Given the description of an element on the screen output the (x, y) to click on. 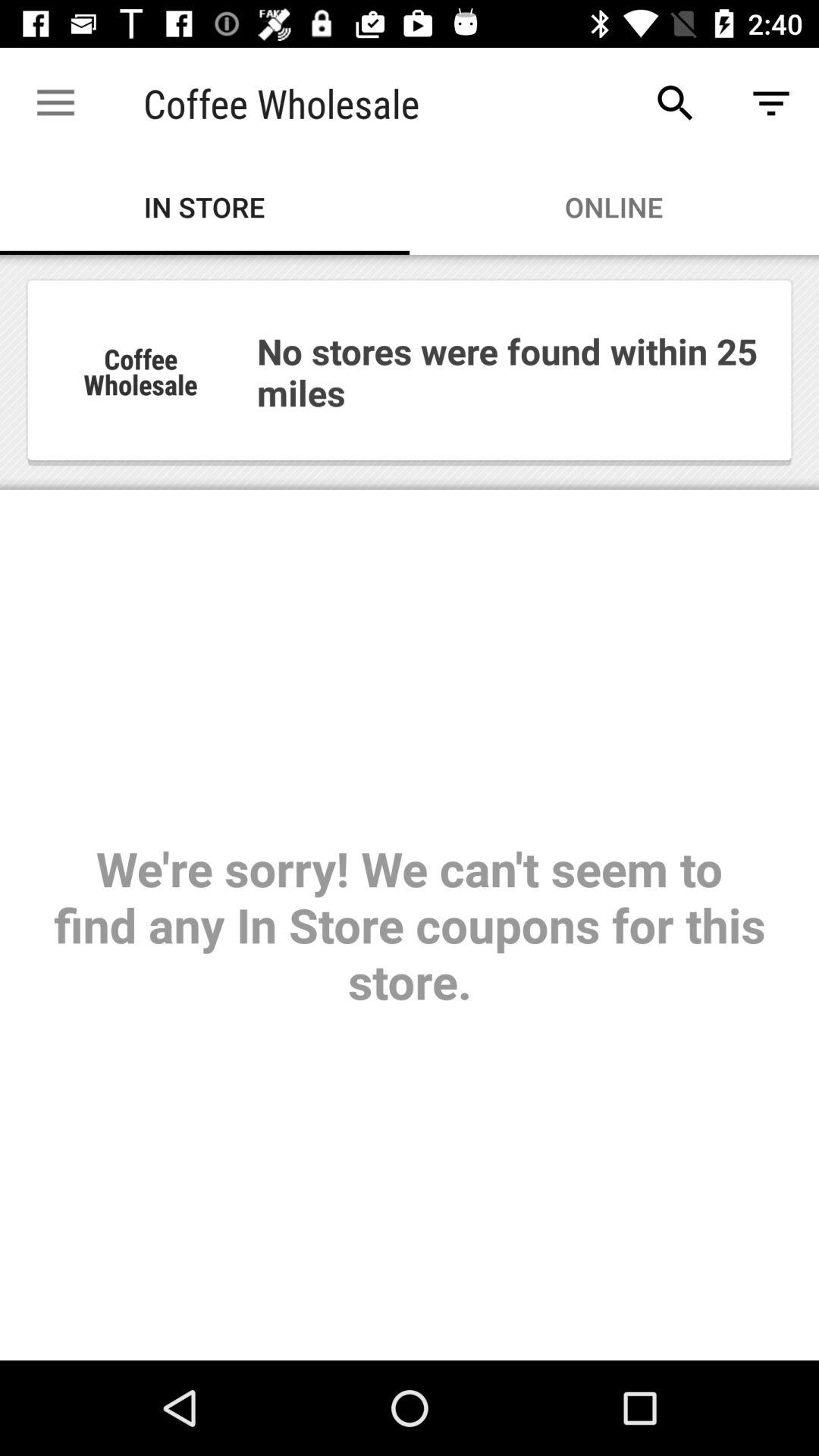
turn on app next to the coffee wholesale (55, 103)
